Given the description of an element on the screen output the (x, y) to click on. 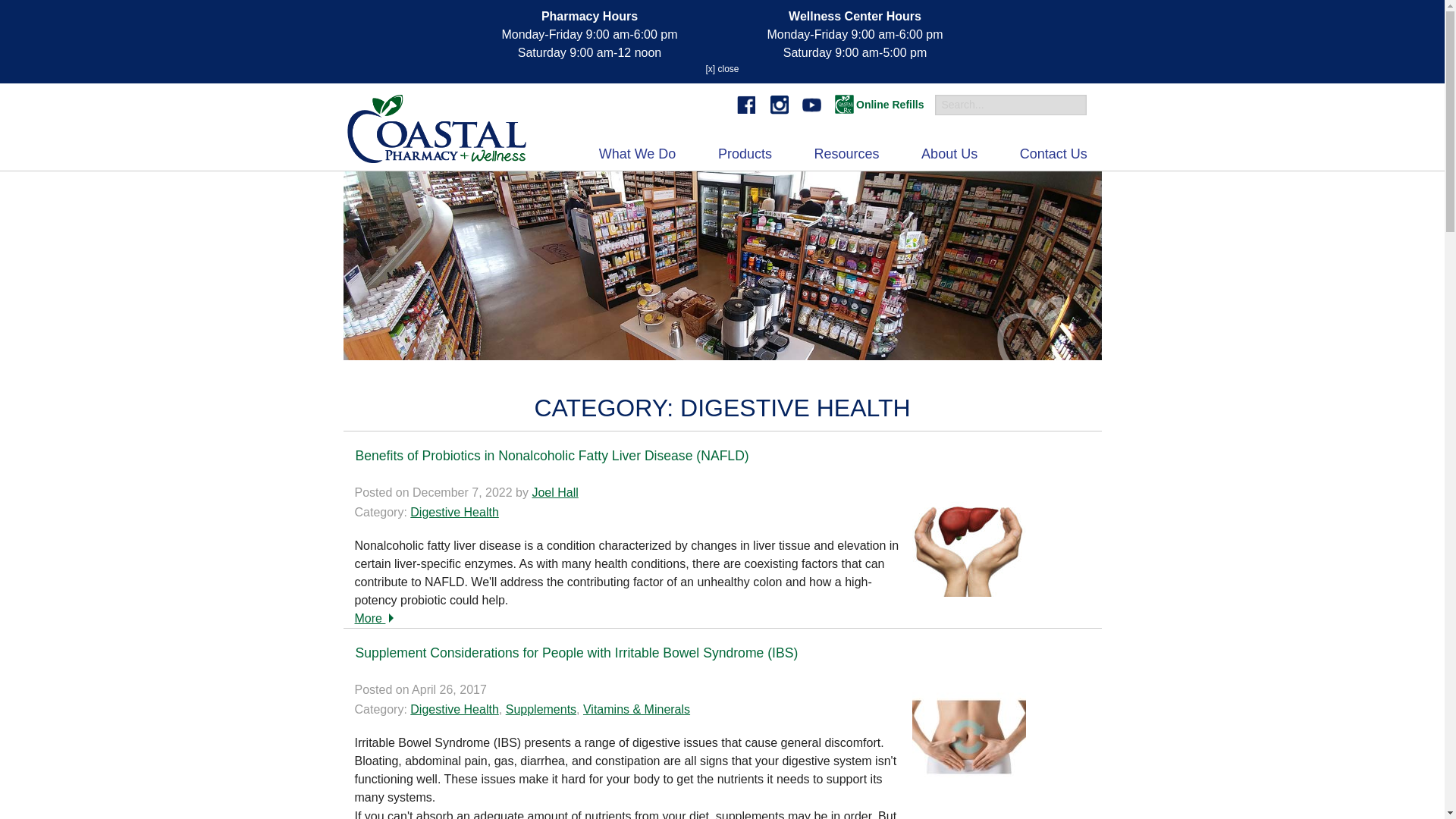
Products (751, 154)
What We Do (644, 154)
Posts by Joel Hall (554, 492)
Facebook (745, 104)
Online Refills (878, 104)
YouTube (811, 104)
Search for: (1010, 104)
Search (40, 10)
Resources (853, 154)
Instagram (779, 104)
About Us (956, 154)
